Given the description of an element on the screen output the (x, y) to click on. 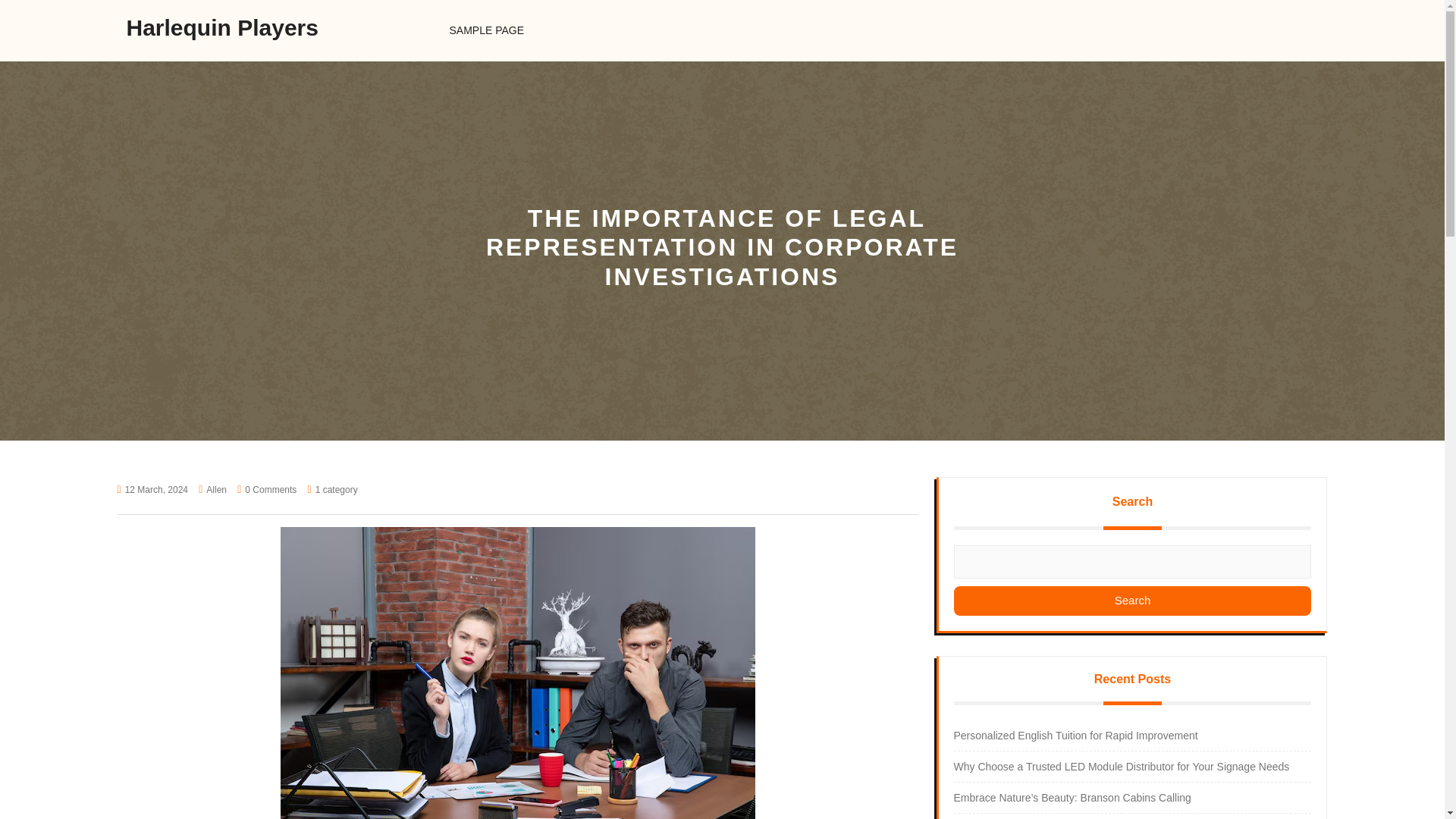
Search (1132, 600)
Personalized English Tuition for Rapid Improvement (1075, 735)
Harlequin Players (221, 27)
SAMPLE PAGE (486, 30)
